Given the description of an element on the screen output the (x, y) to click on. 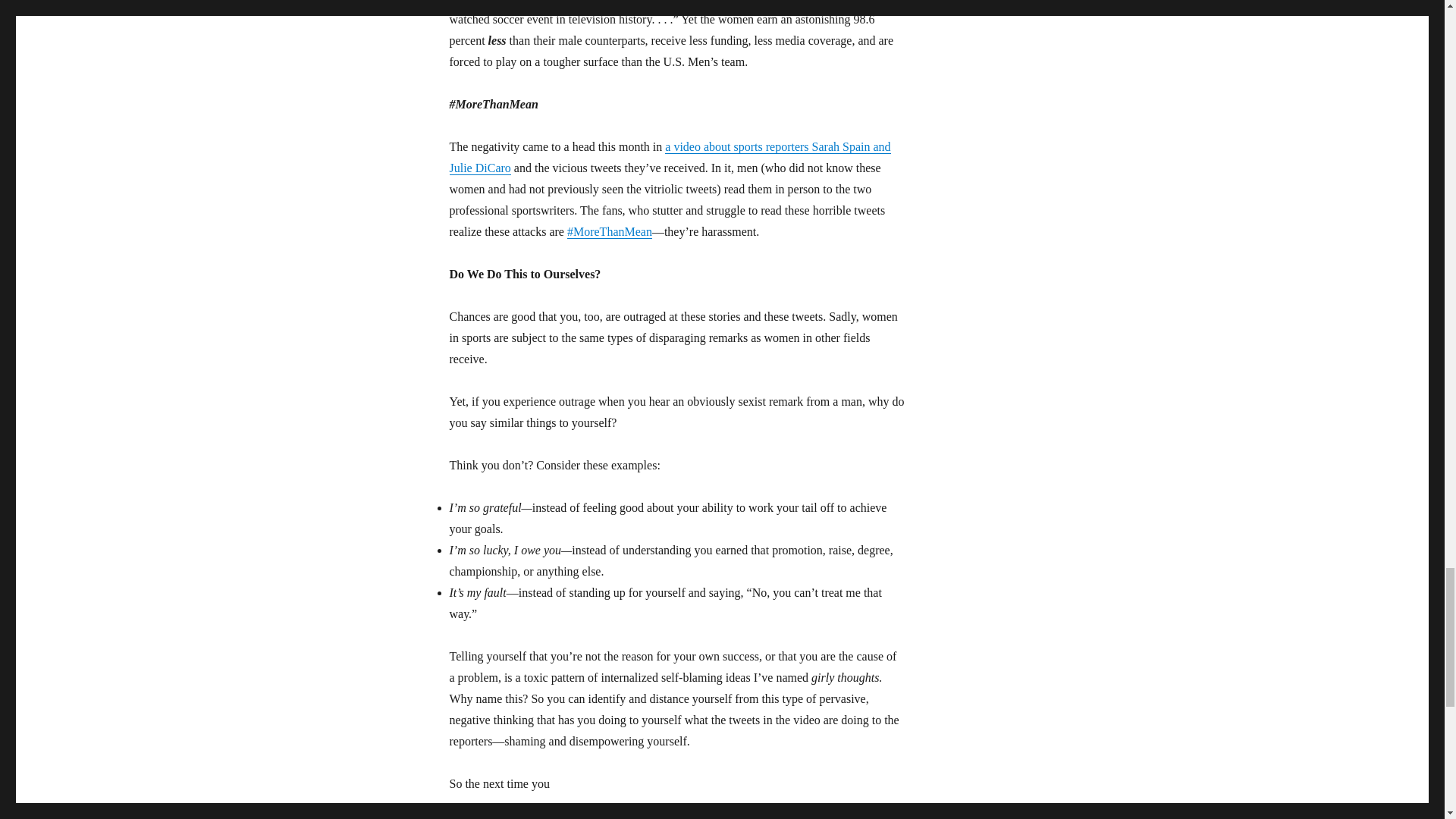
a video about sports reporters Sarah Spain and Julie DiCaro (668, 157)
